Given the description of an element on the screen output the (x, y) to click on. 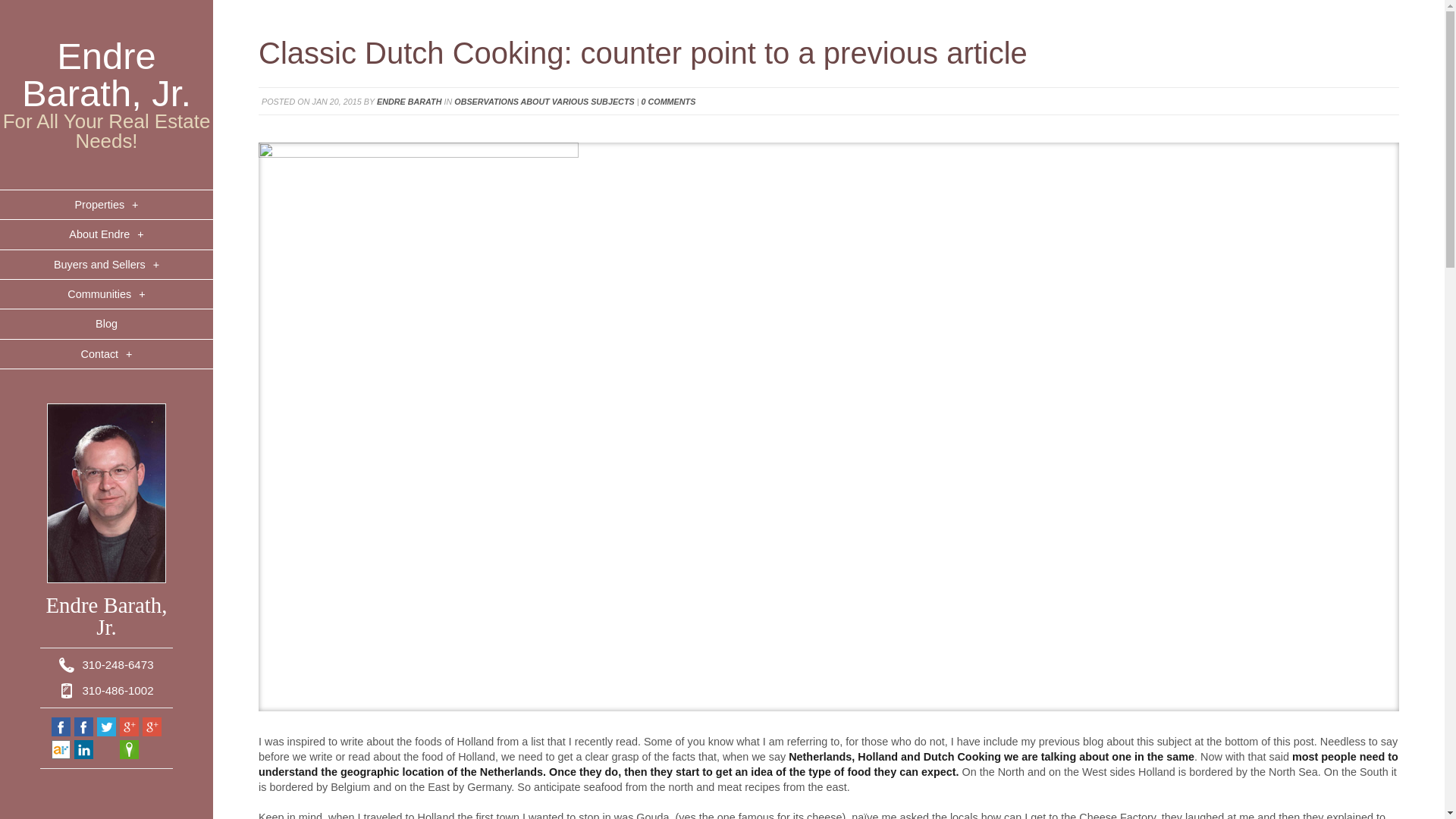
About (106, 234)
Buyers and Sellers (106, 265)
Blog (106, 324)
Endre Barath, Jr. (105, 74)
Properties (106, 205)
